Given the description of an element on the screen output the (x, y) to click on. 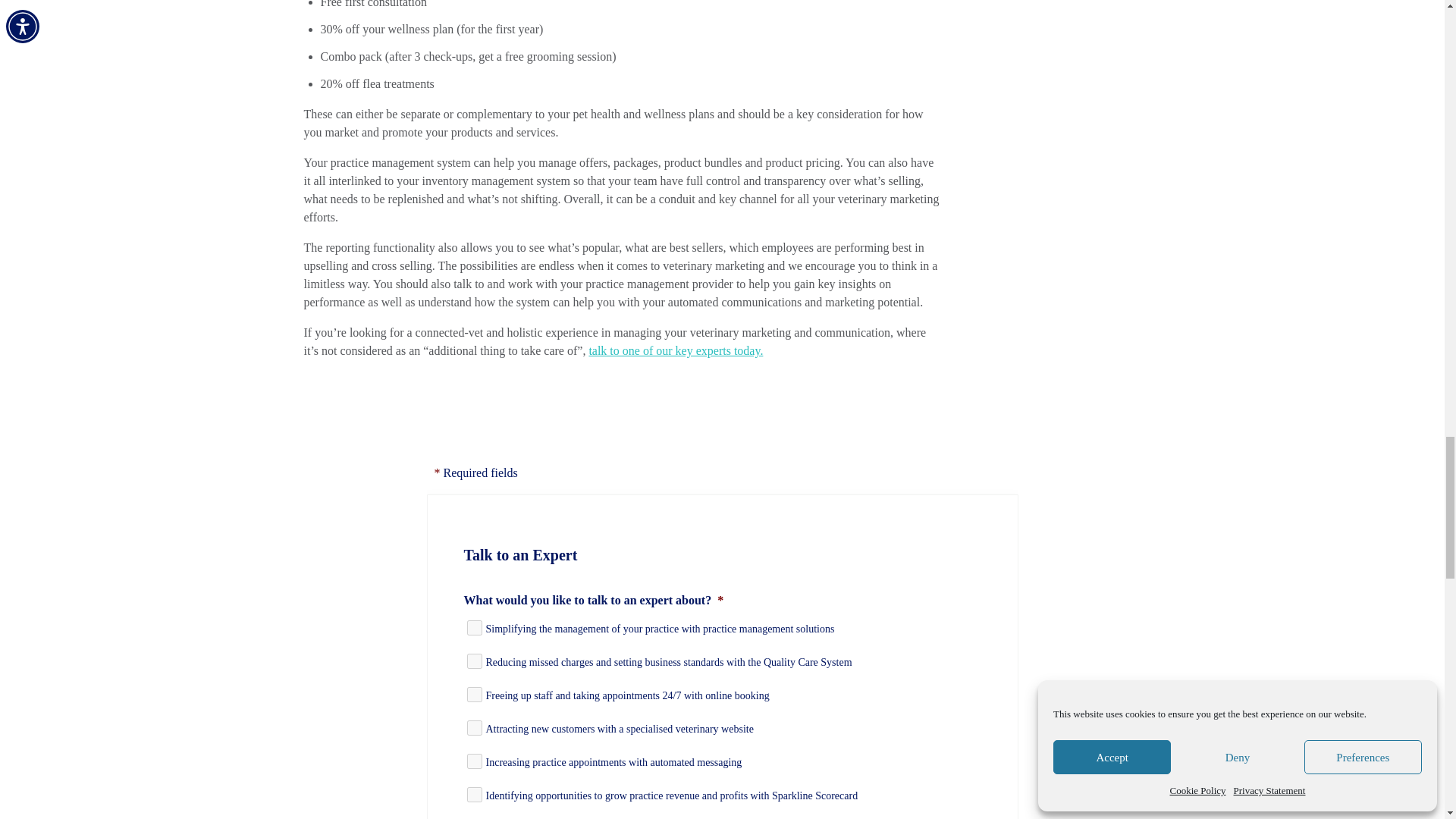
Rapport Scheduling (474, 694)
Rapport Websites (474, 727)
QCS (474, 661)
Rapport Messaging (474, 761)
Sparkline Scorecard (474, 794)
PMS (474, 627)
